Given the description of an element on the screen output the (x, y) to click on. 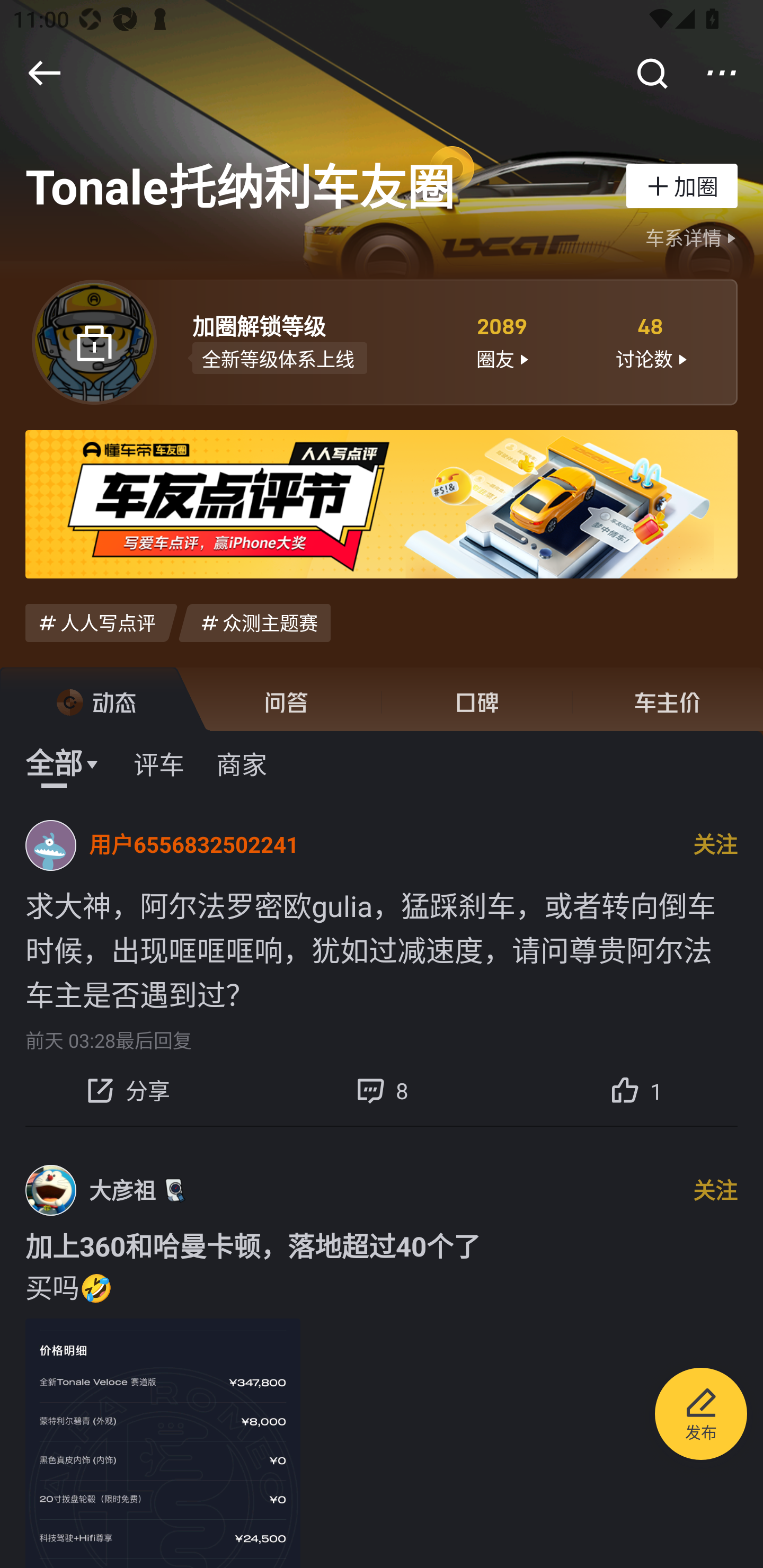
 (44, 72)
 (651, 72)
 (721, 72)
车系详情 (692, 238)
加圈解锁等级 全新等级体系上线 (307, 341)
2089 圈友 (501, 341)
48 讨论数 (650, 341)
 人人写点评 (101, 622)
 众测主题赛 (253, 622)
全部  (63, 762)
评车 (158, 762)
商家 (241, 762)
关注 (714, 844)
用户6556832502241 (194, 844)
 分享 (127, 1090)
 8 (381, 1090)
1 (635, 1090)
关注 (714, 1189)
大彦祖 (122, 1189)
买吗🤣 (381, 1286)
 发布 (701, 1416)
